Given the description of an element on the screen output the (x, y) to click on. 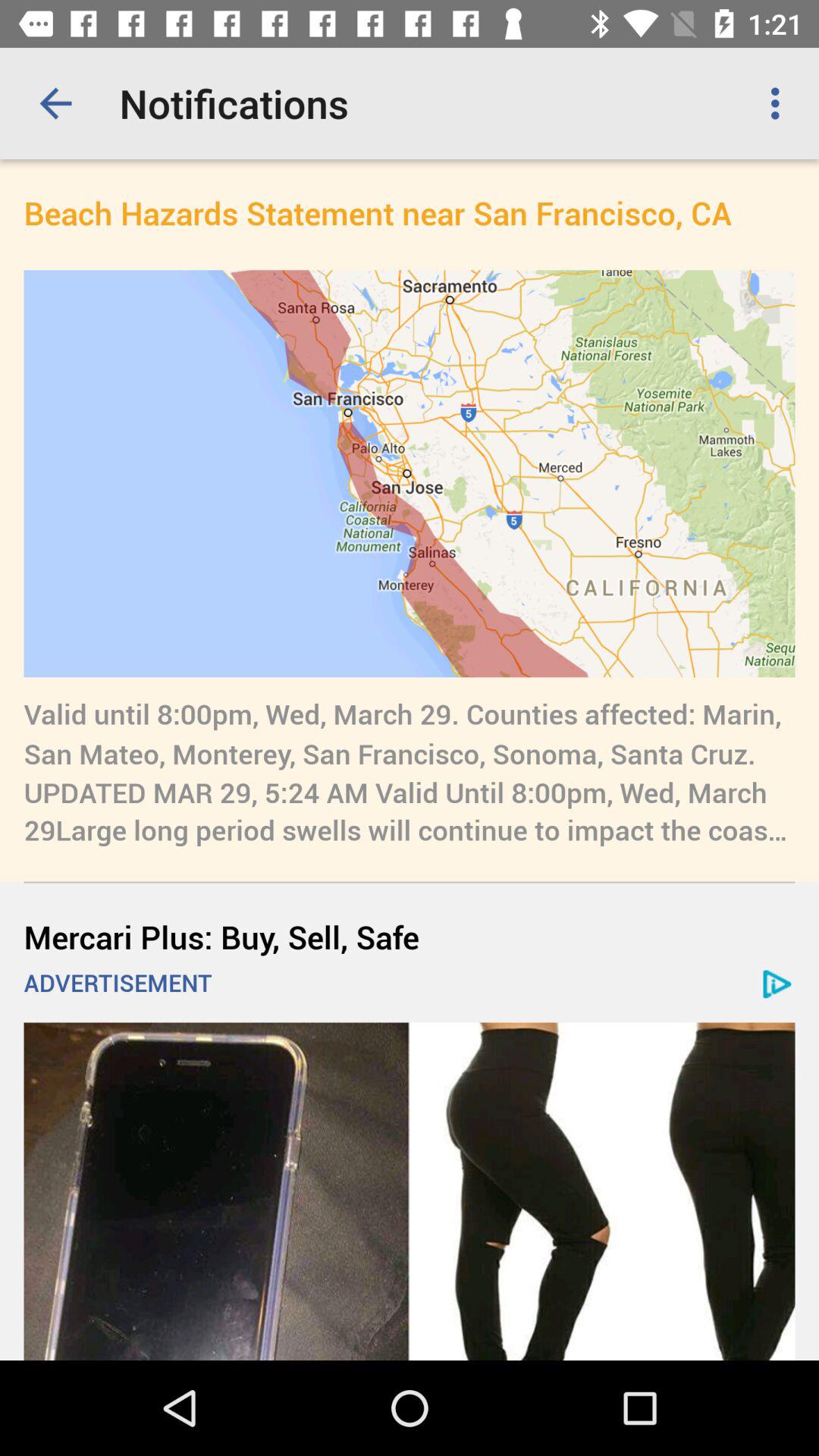
tap the icon above the advertisement (409, 936)
